Given the description of an element on the screen output the (x, y) to click on. 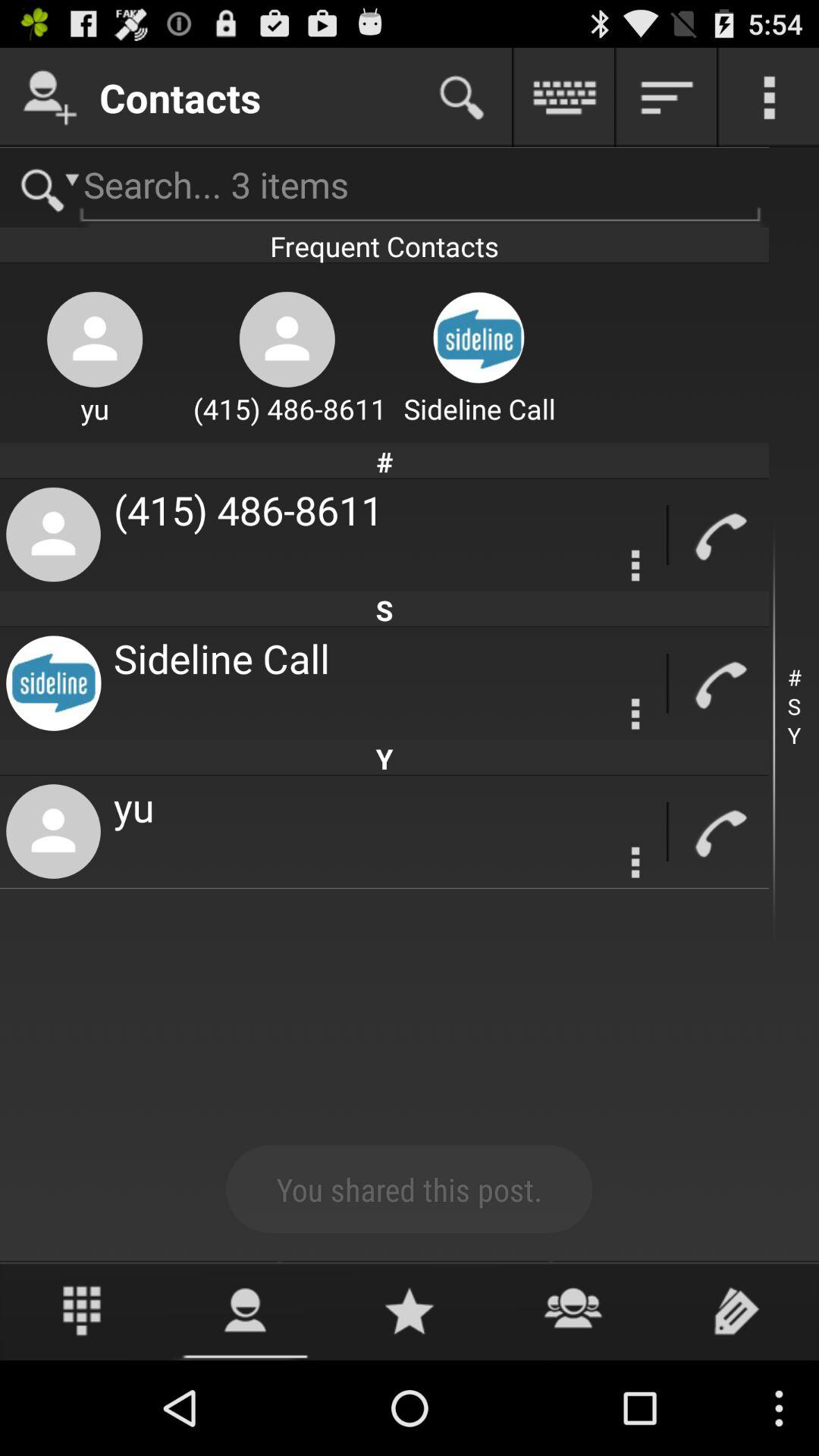
open contacts (573, 1310)
